Given the description of an element on the screen output the (x, y) to click on. 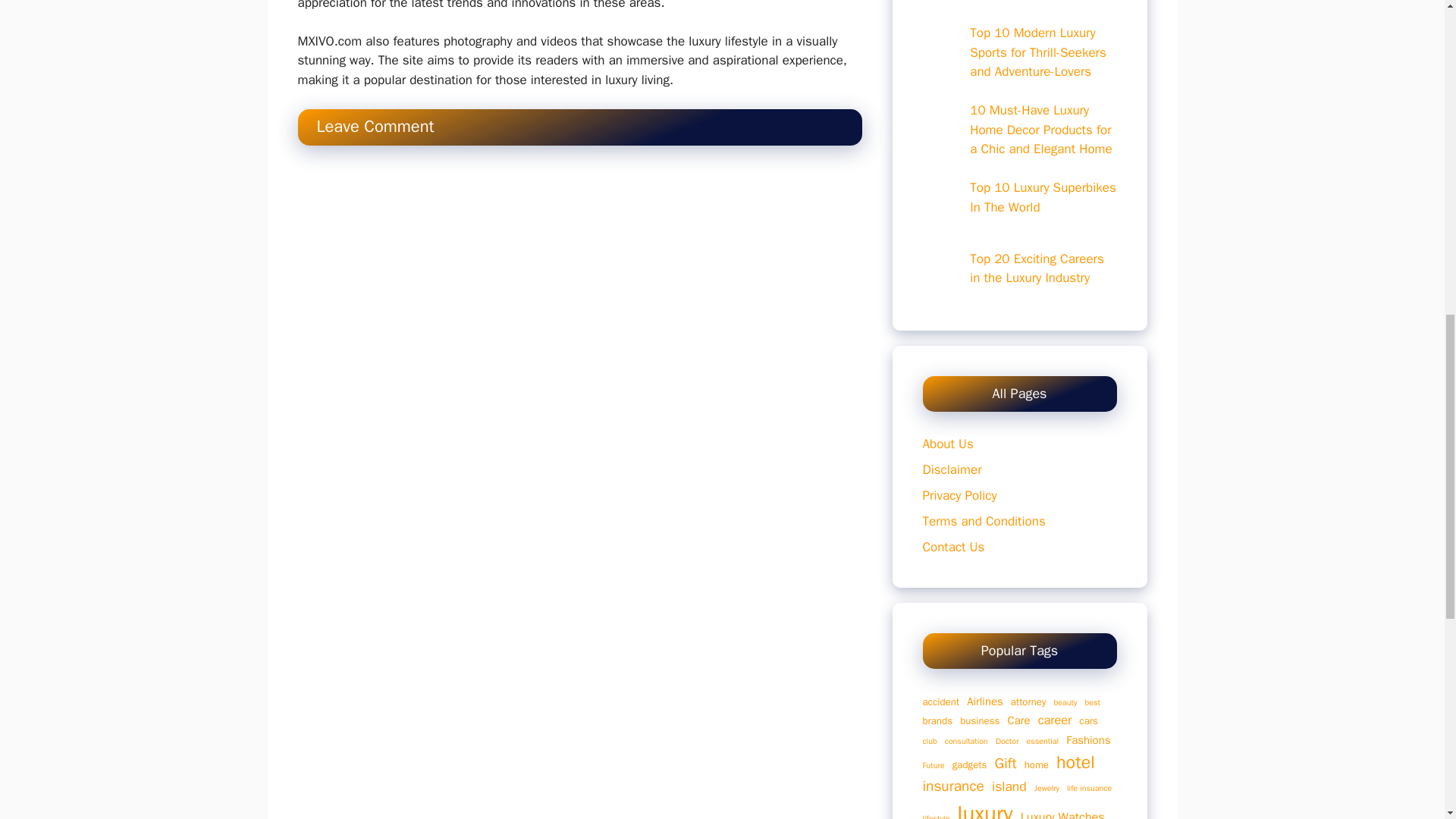
Top 20 Exciting Careers in the Luxury Industry (1036, 268)
Disclaimer (951, 469)
Contact Us (952, 546)
accident (940, 702)
About Us (946, 443)
Scroll back to top (1406, 720)
Privacy Policy (958, 495)
Top 10 Luxury Superbikes In The World (1042, 197)
